Given the description of an element on the screen output the (x, y) to click on. 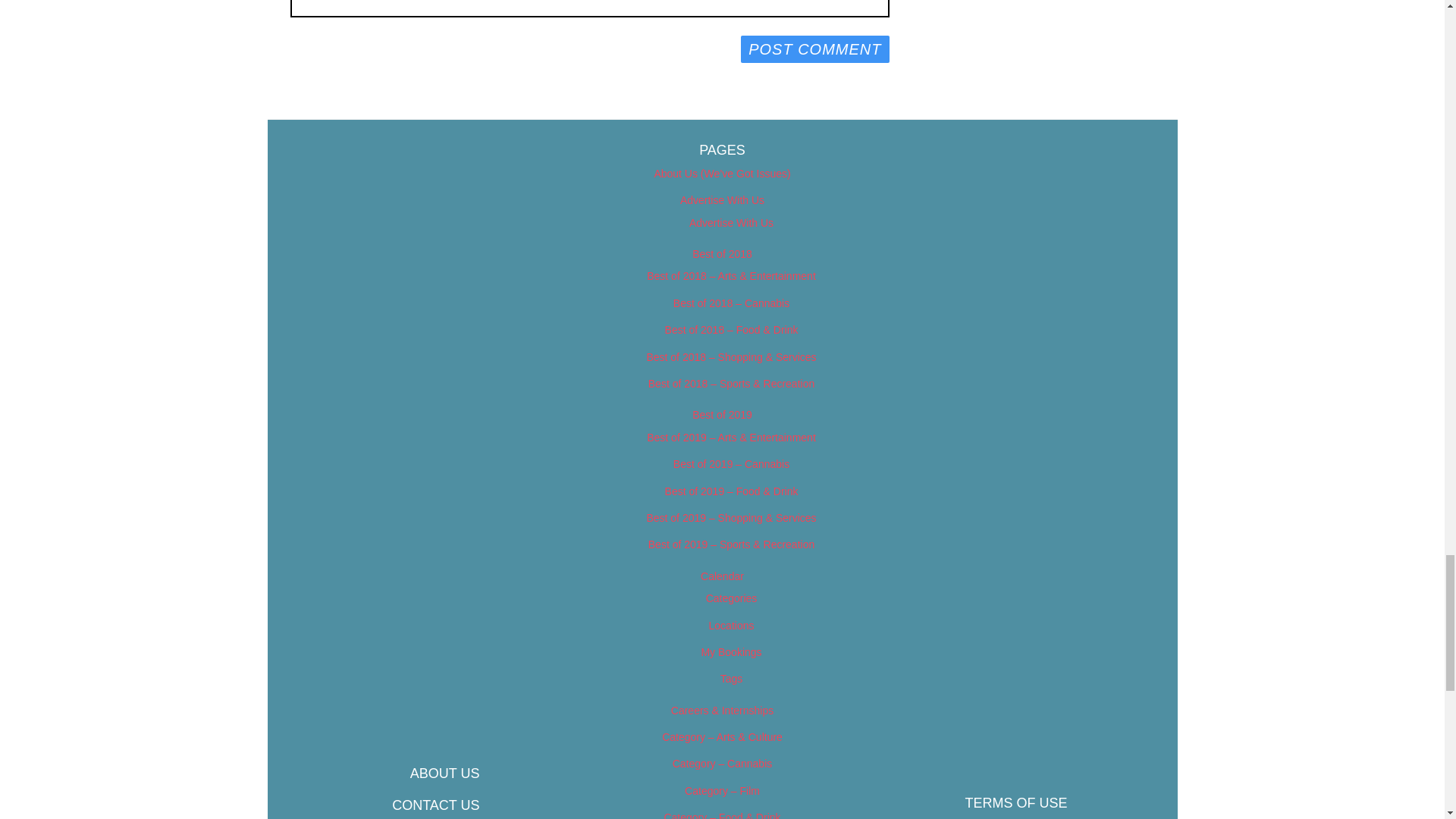
Post Comment (814, 49)
